Given the description of an element on the screen output the (x, y) to click on. 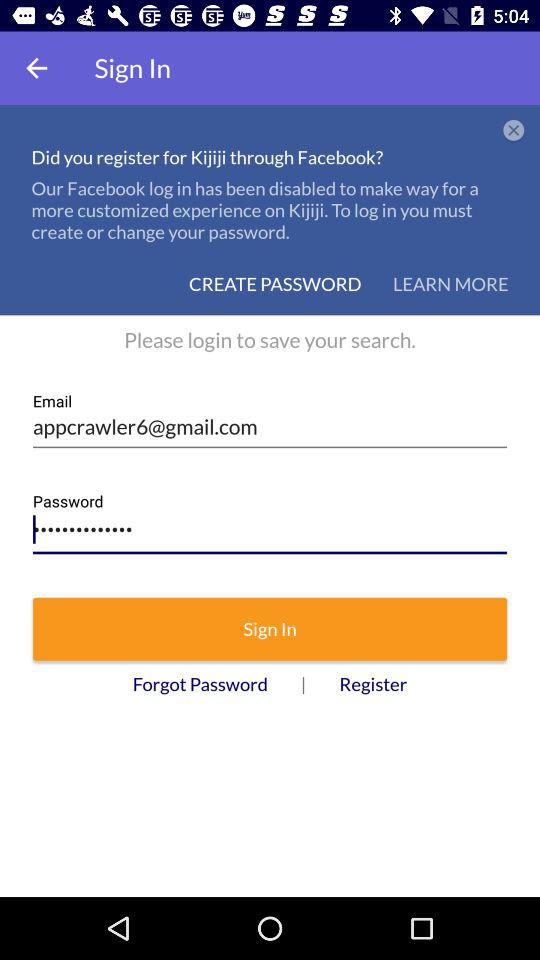
click on forgot password (199, 684)
click on create password (275, 283)
click the button learn more on the web page (451, 283)
click on cancel button (514, 131)
